Given the description of an element on the screen output the (x, y) to click on. 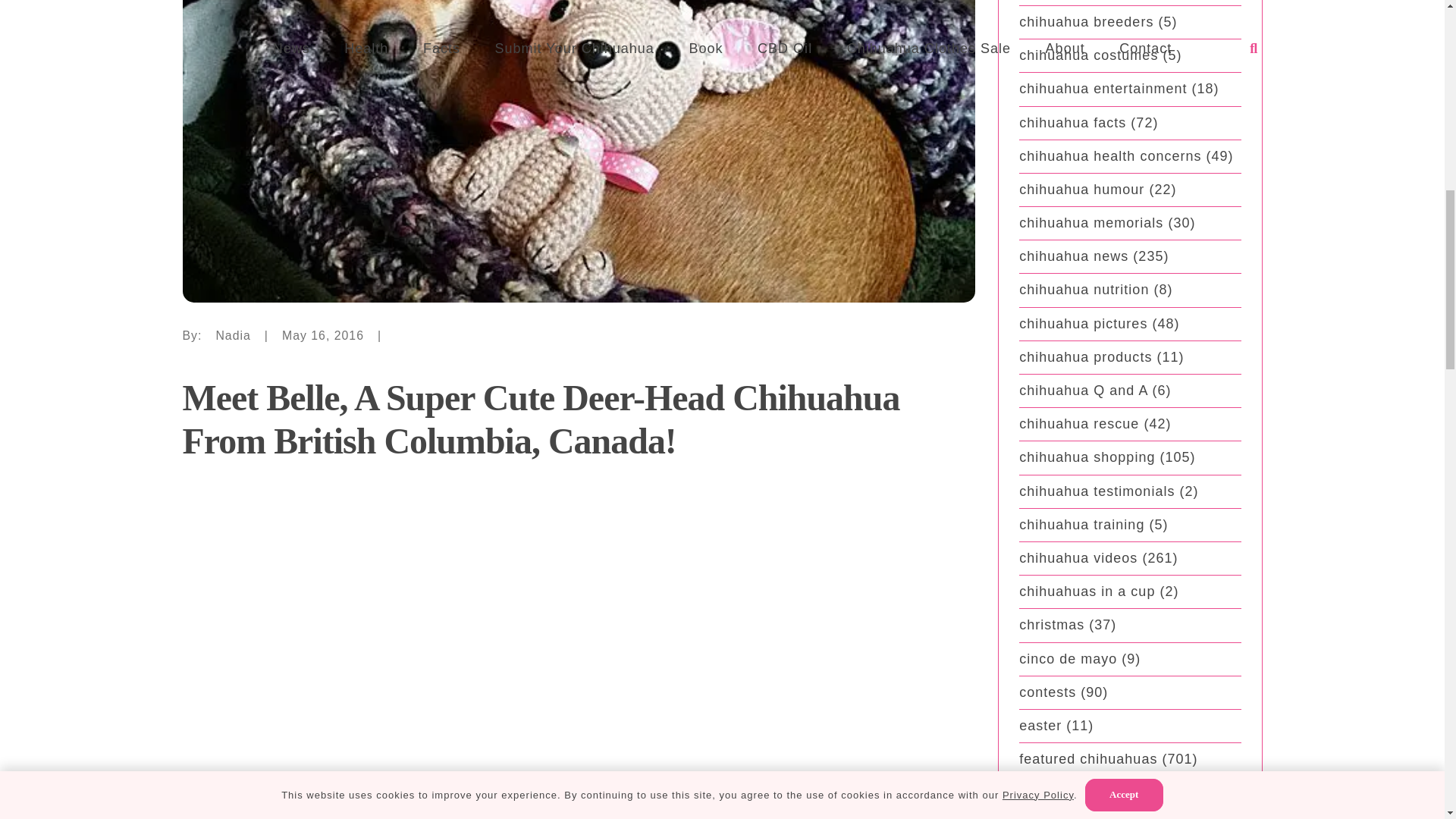
chihuahua humour (1081, 189)
chihuahua entertainment (1102, 88)
chihuahua costumes (1088, 55)
Nadia (232, 335)
chihuahua breeders (1086, 21)
chihuahua health concerns (1110, 155)
chihuahua facts (1072, 122)
